Given the description of an element on the screen output the (x, y) to click on. 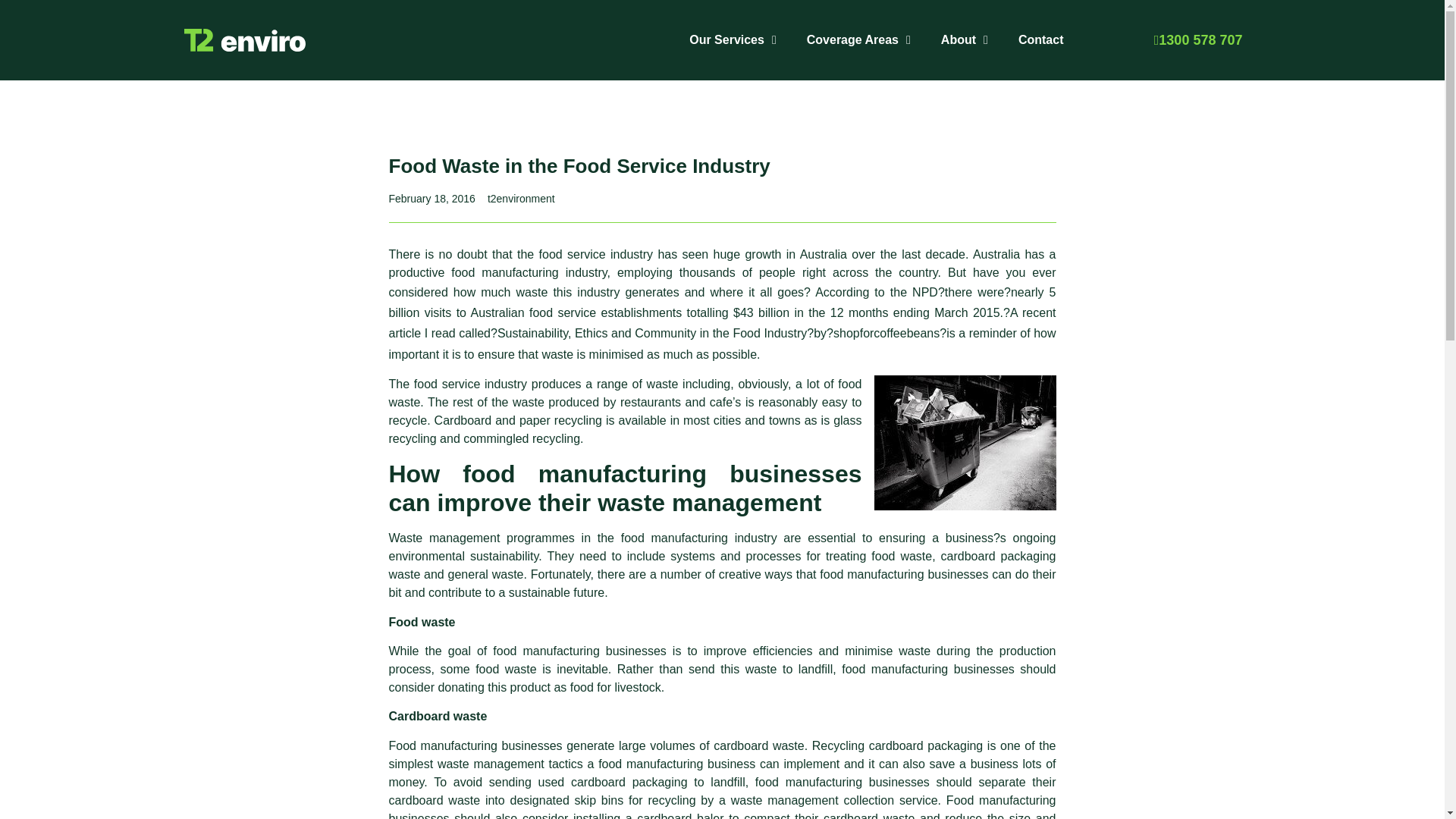
About (964, 39)
Our Services (733, 39)
Coverage Areas (859, 39)
1300 578 707 (1197, 40)
Contact (1040, 39)
